Given the description of an element on the screen output the (x, y) to click on. 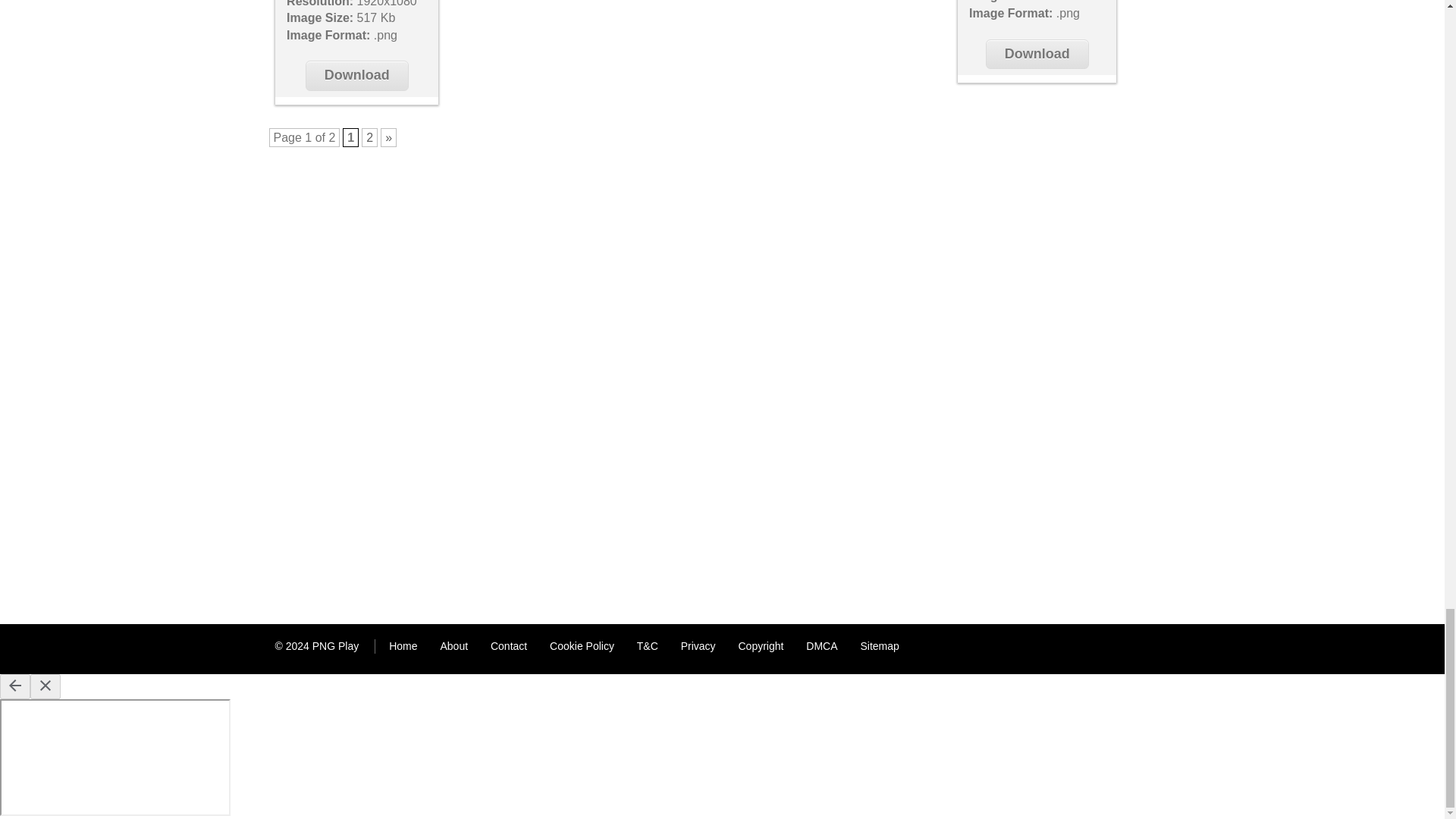
Download (357, 75)
